Given the description of an element on the screen output the (x, y) to click on. 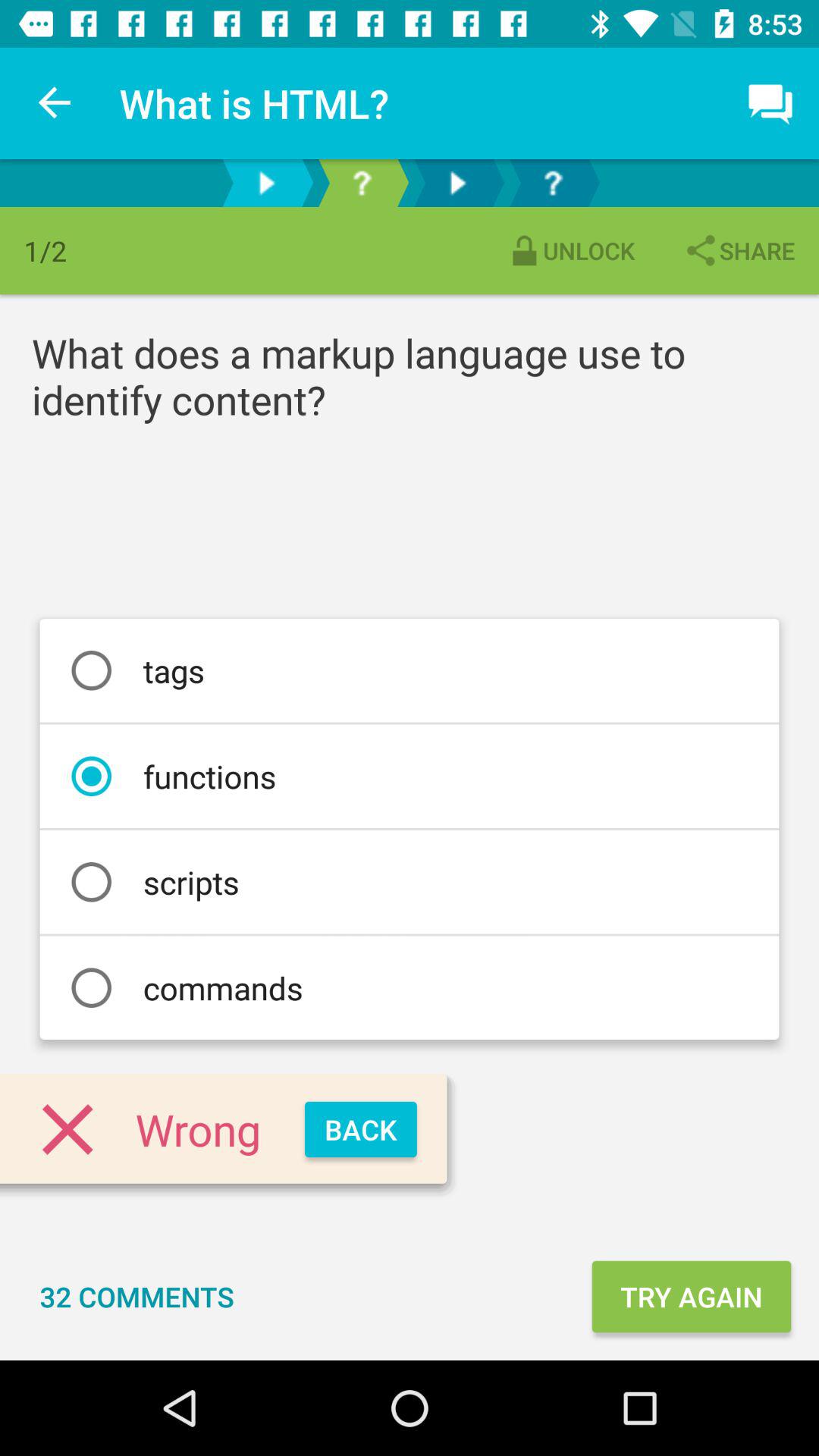
launch icon above the share (771, 103)
